Given the description of an element on the screen output the (x, y) to click on. 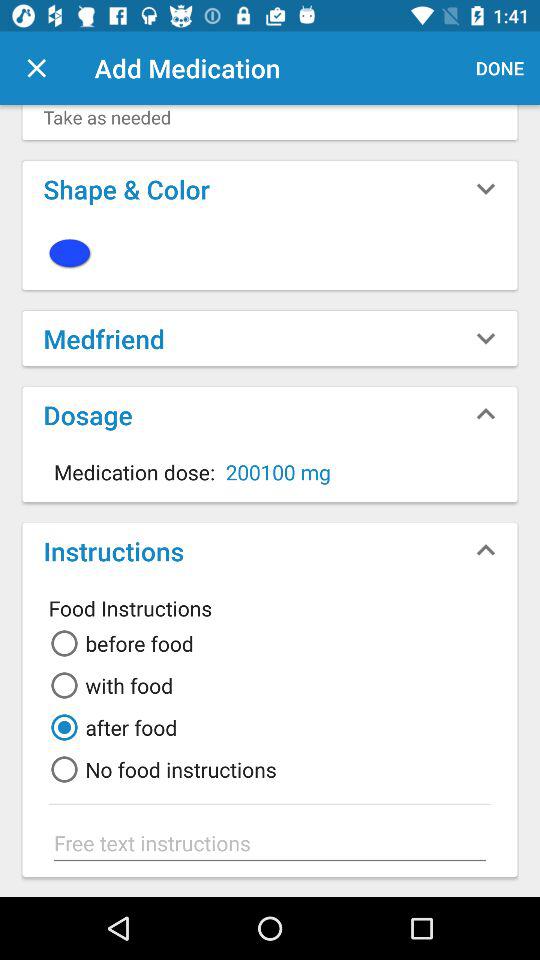
turn on item above the take as needed icon (36, 68)
